Given the description of an element on the screen output the (x, y) to click on. 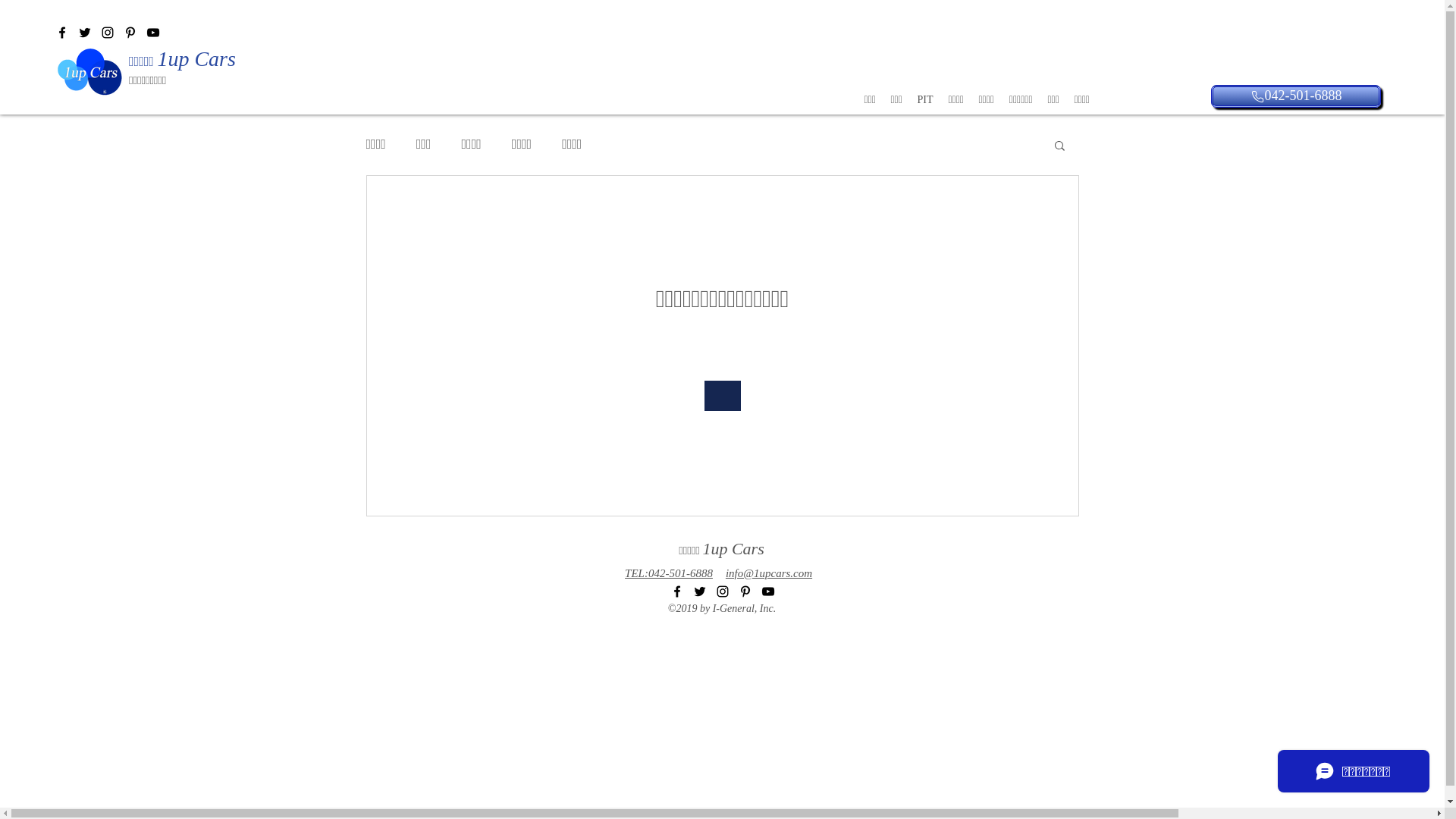
info@1upcars.com Element type: text (768, 572)
PIT Element type: text (925, 99)
TEL:042-501-6888 Element type: text (668, 572)
Wix Chat Element type: hover (1357, 774)
042-501-6888 Element type: text (1295, 95)
